Given the description of an element on the screen output the (x, y) to click on. 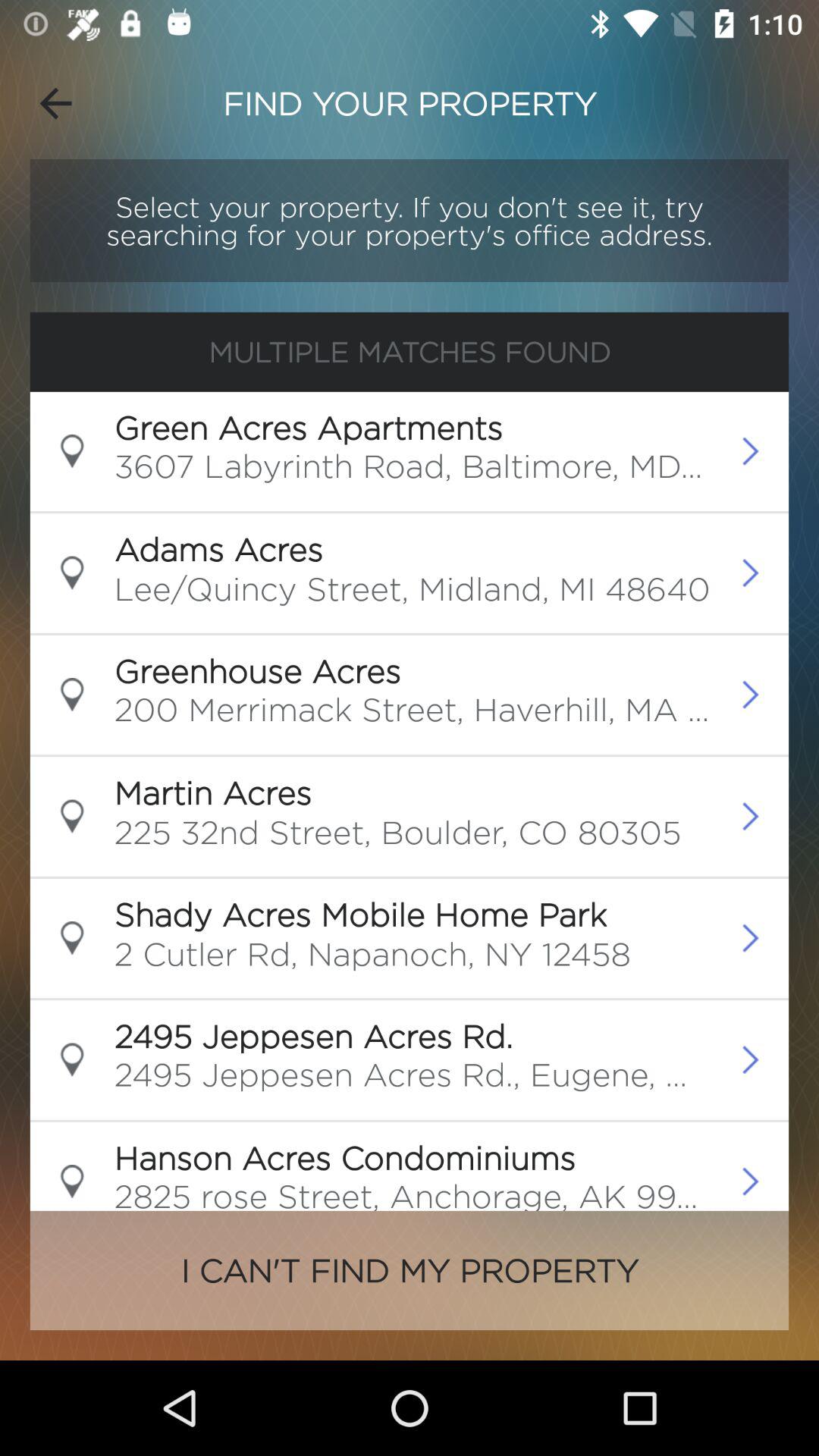
launch app above the greenhouse acres (412, 592)
